Given the description of an element on the screen output the (x, y) to click on. 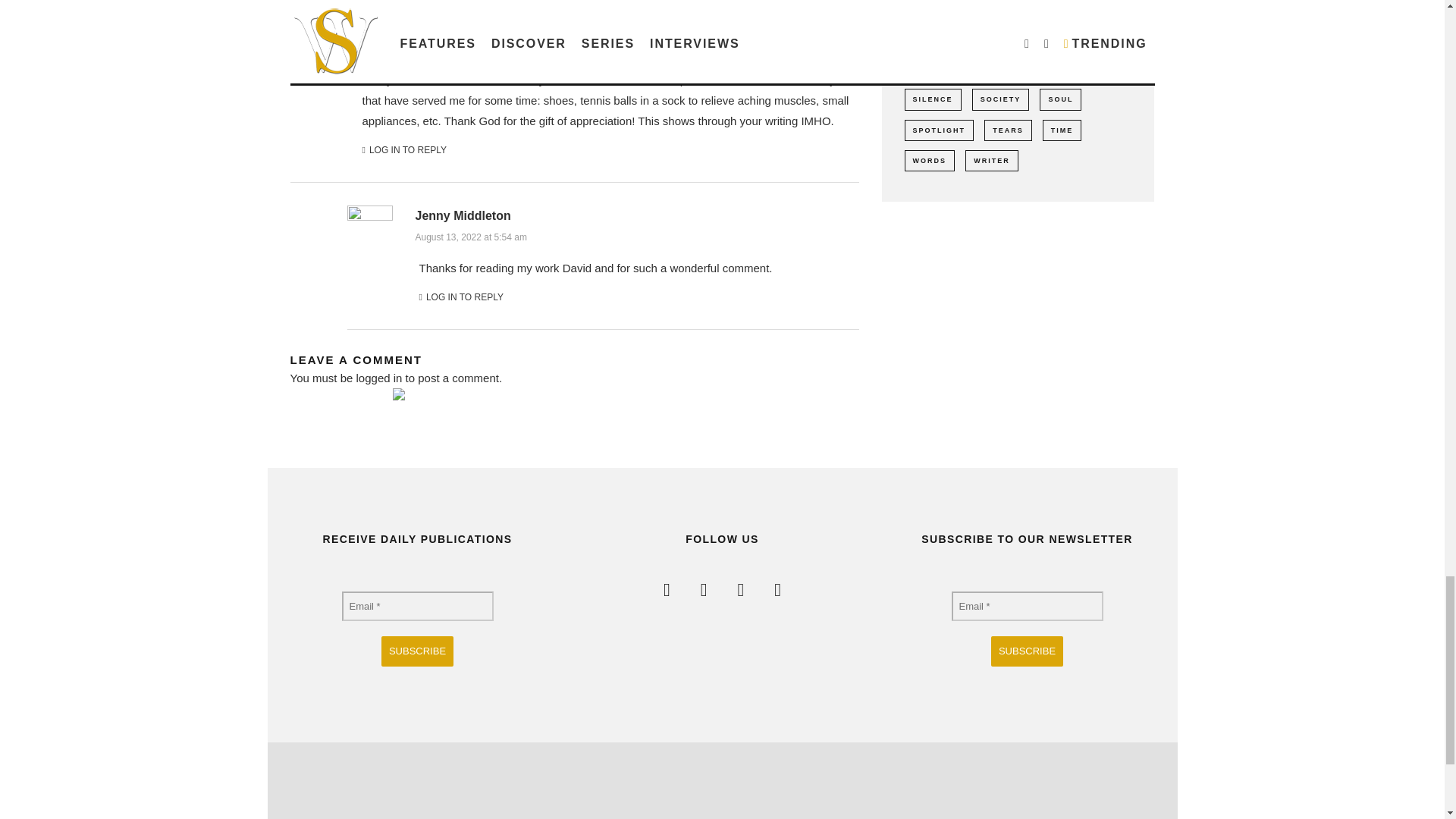
Subscribe (1026, 651)
Connect with WordPress (425, 405)
Subscribe (416, 651)
